Given the description of an element on the screen output the (x, y) to click on. 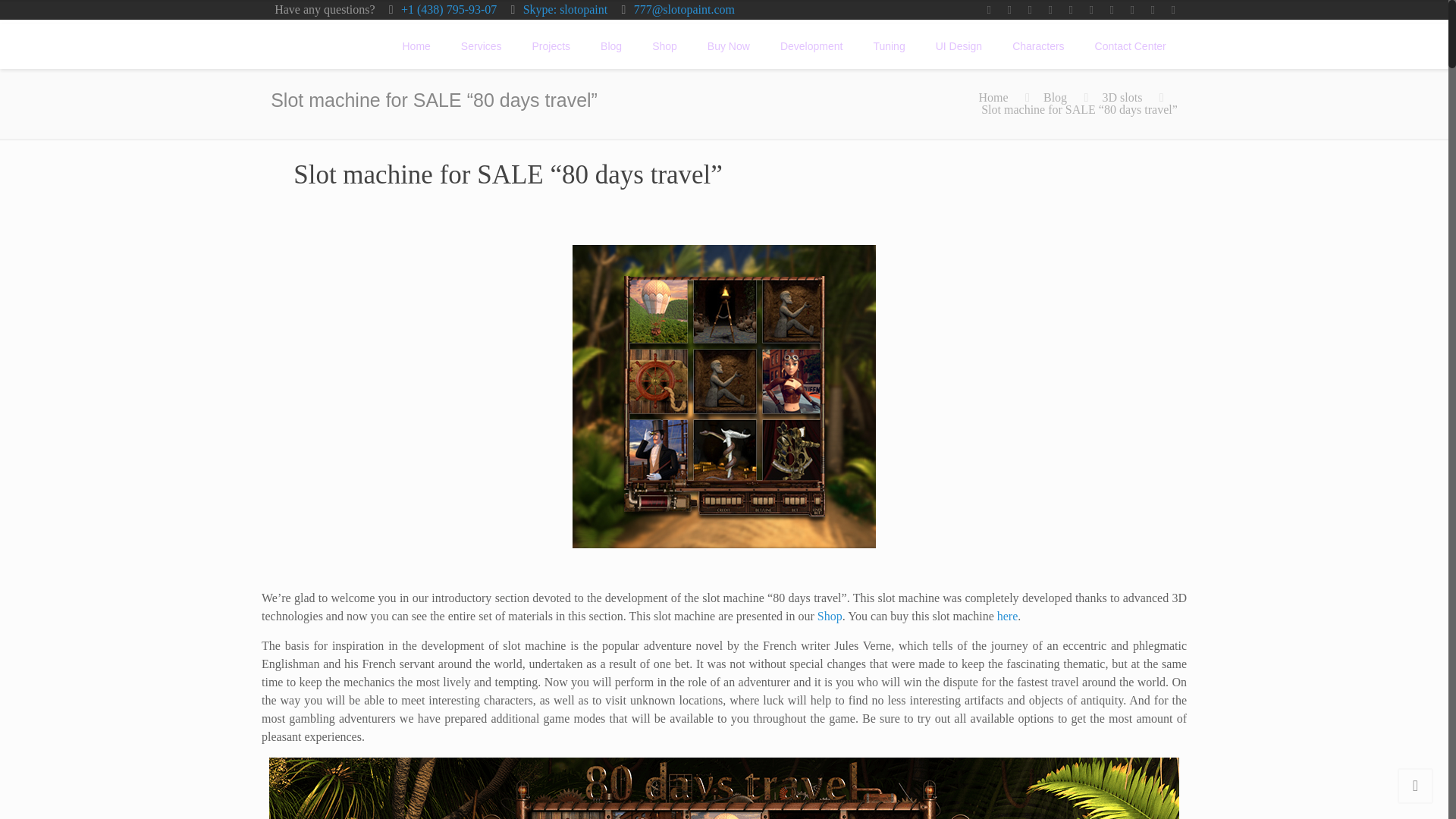
Dribbble (1132, 9)
Services (480, 45)
Instagram (1152, 9)
Tuning (888, 45)
Skype: slotopaint (565, 9)
Buy Now (729, 45)
Facebook (1009, 9)
Blog (611, 45)
Slotopaint (309, 45)
LinkedIn (1091, 9)
Behance (1173, 9)
Blog (1055, 97)
Contact Center (1130, 45)
Shop (665, 45)
Skype (989, 9)
